Given the description of an element on the screen output the (x, y) to click on. 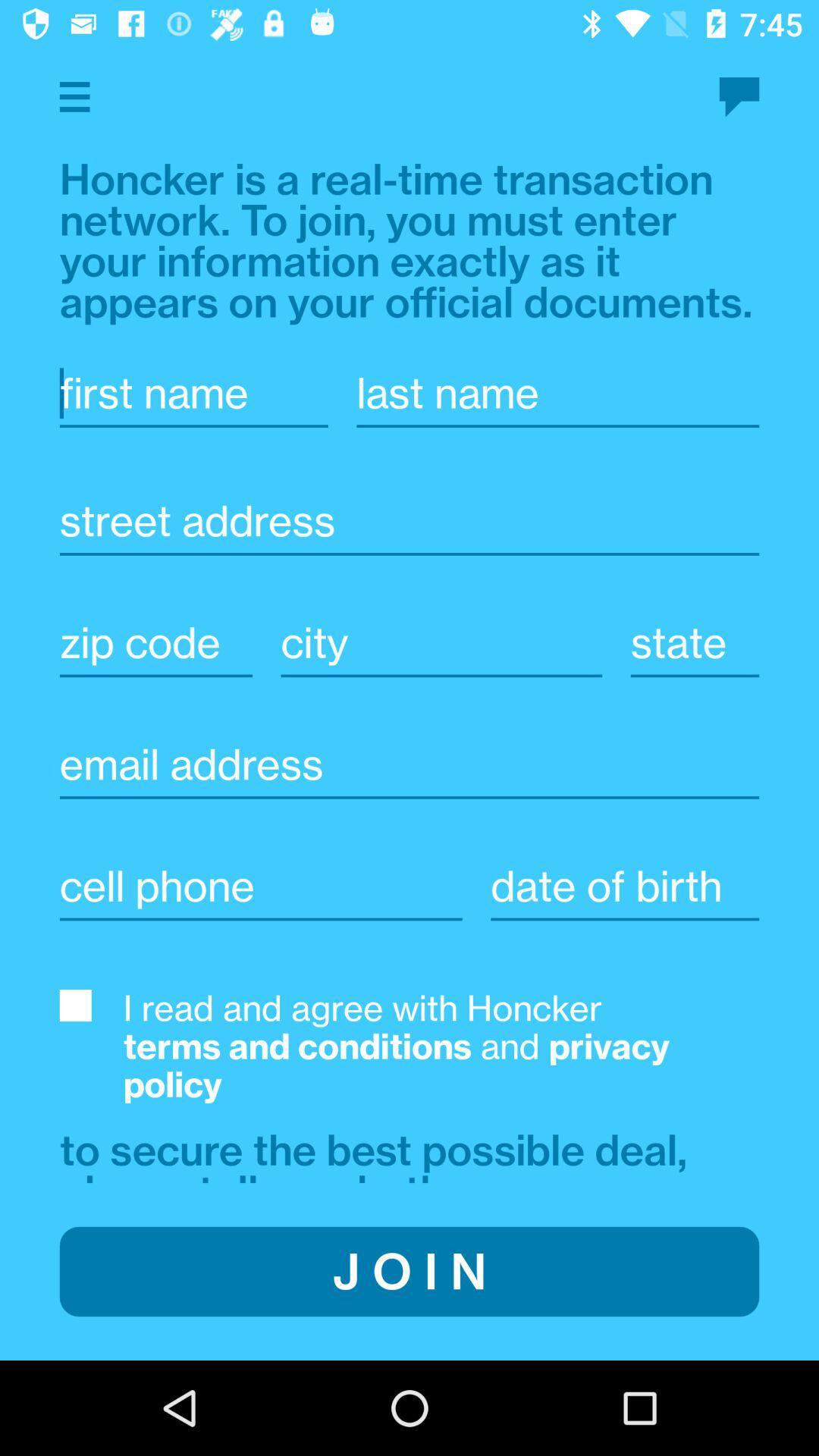
open item below the to secure the (409, 1271)
